Given the description of an element on the screen output the (x, y) to click on. 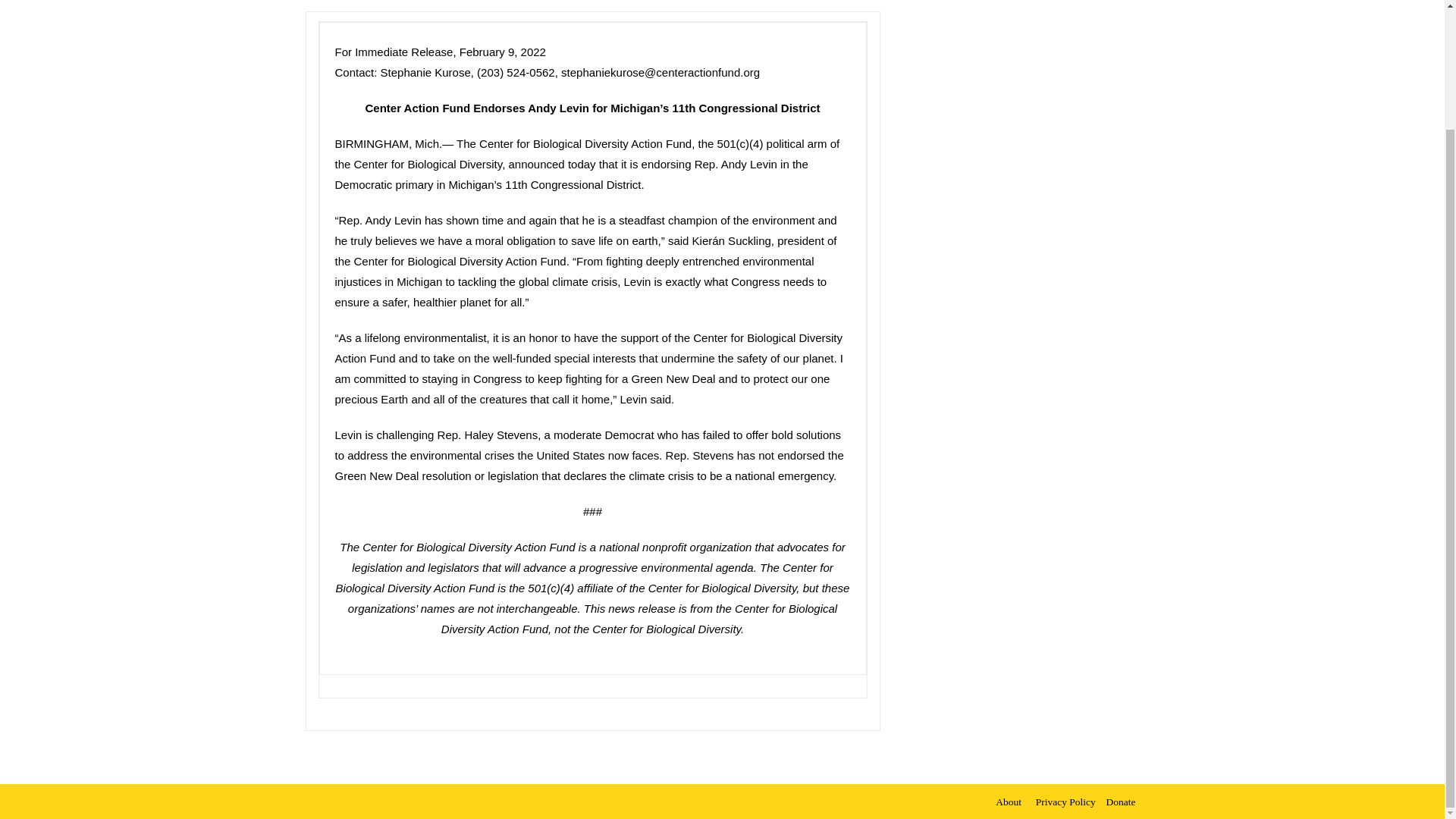
About (1012, 801)
Privacy Policy (1065, 801)
Donate (1121, 801)
